Given the description of an element on the screen output the (x, y) to click on. 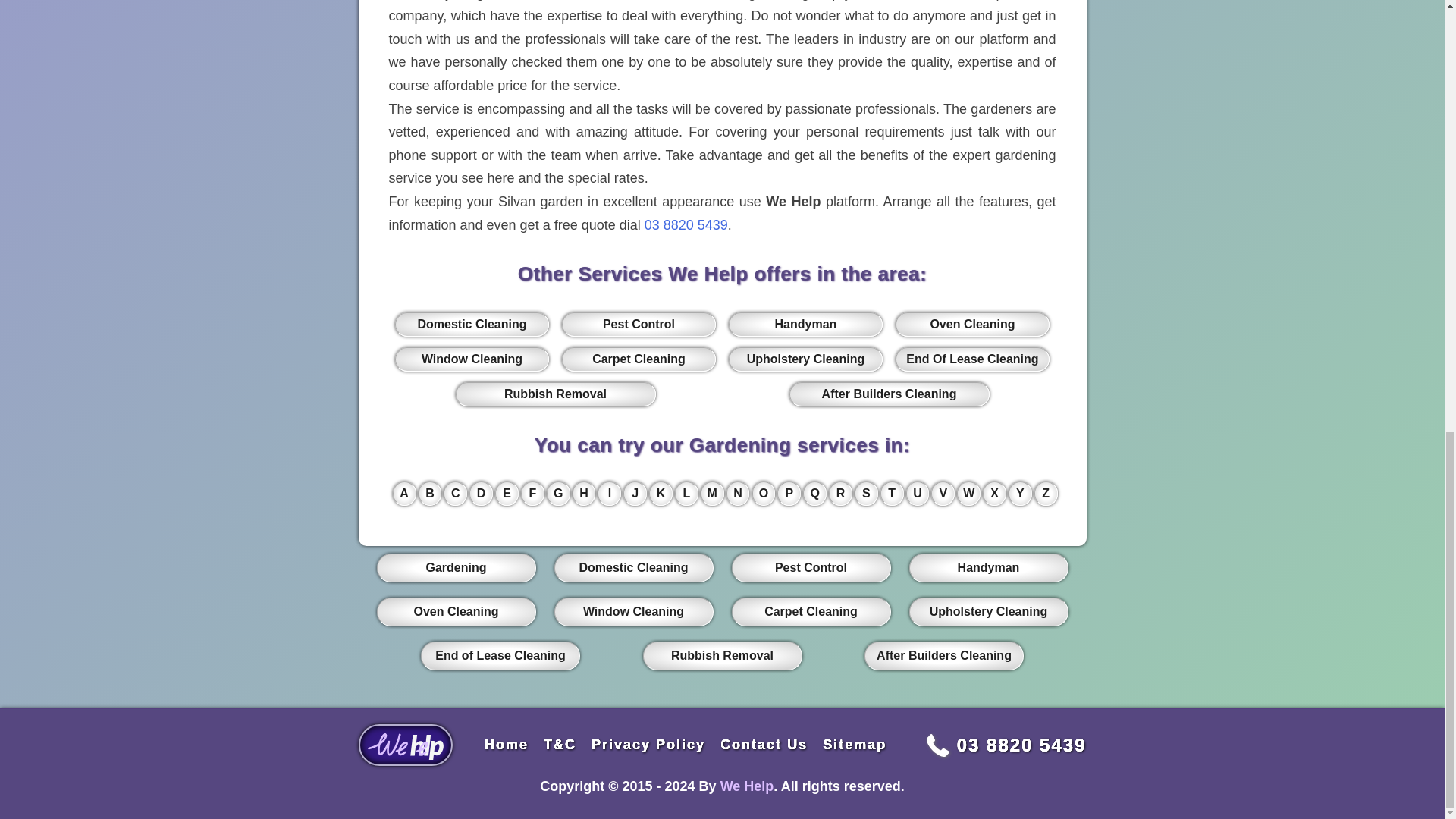
Carpet Cleaning Silvan 3795 (638, 359)
End Of Lease Cleaning (971, 359)
Pest Control Silvan 3795 (638, 324)
Upholstery Cleaning (805, 359)
Window Cleaning Silvan 3795 (471, 359)
End Of Lease Cleaning Silvan 3795 (971, 359)
Rubbish Removal (554, 394)
Domestic Cleaning (471, 324)
Domestic Cleaning Silvan 3795 (471, 324)
Upholstery Cleaning Silvan 3795 (805, 359)
After Builders Cleaning (888, 394)
Rubbish Removal Silvan 3795 (554, 394)
Window Cleaning (471, 359)
Handyman Silvan 3795 (805, 324)
Carpet Cleaning (638, 359)
